Given the description of an element on the screen output the (x, y) to click on. 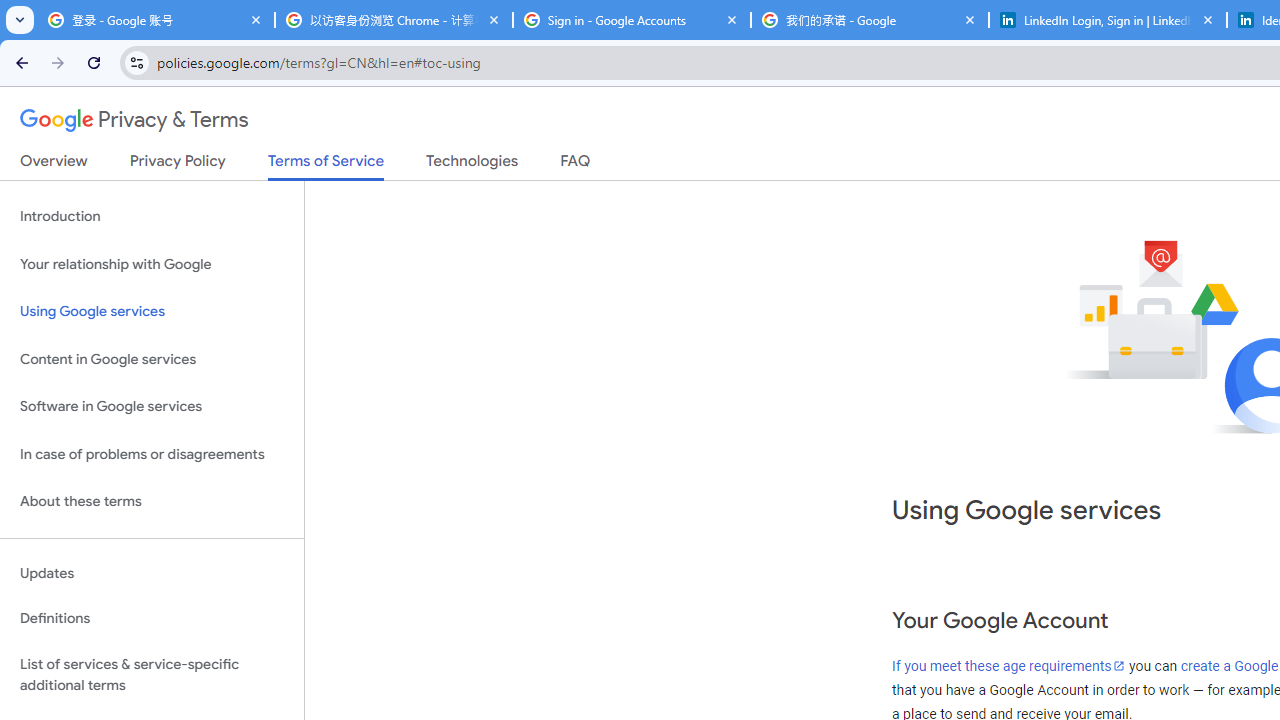
If you meet these age requirements (1009, 665)
